Given the description of an element on the screen output the (x, y) to click on. 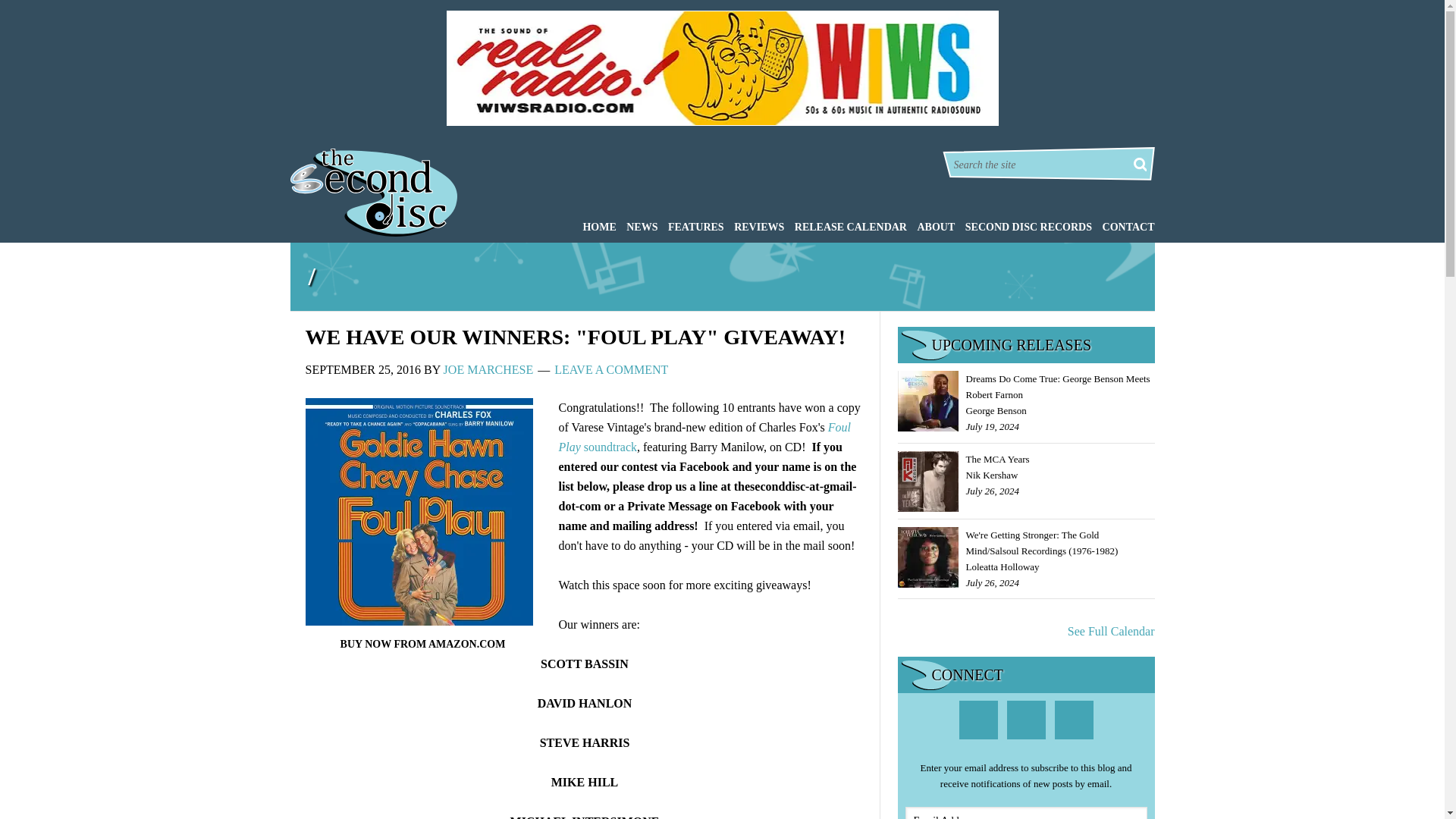
REVIEWS (755, 226)
Search the site (1042, 165)
HOME (595, 226)
NEWS (638, 226)
THE SECOND DISC (373, 192)
FEATURES (692, 226)
